Given the description of an element on the screen output the (x, y) to click on. 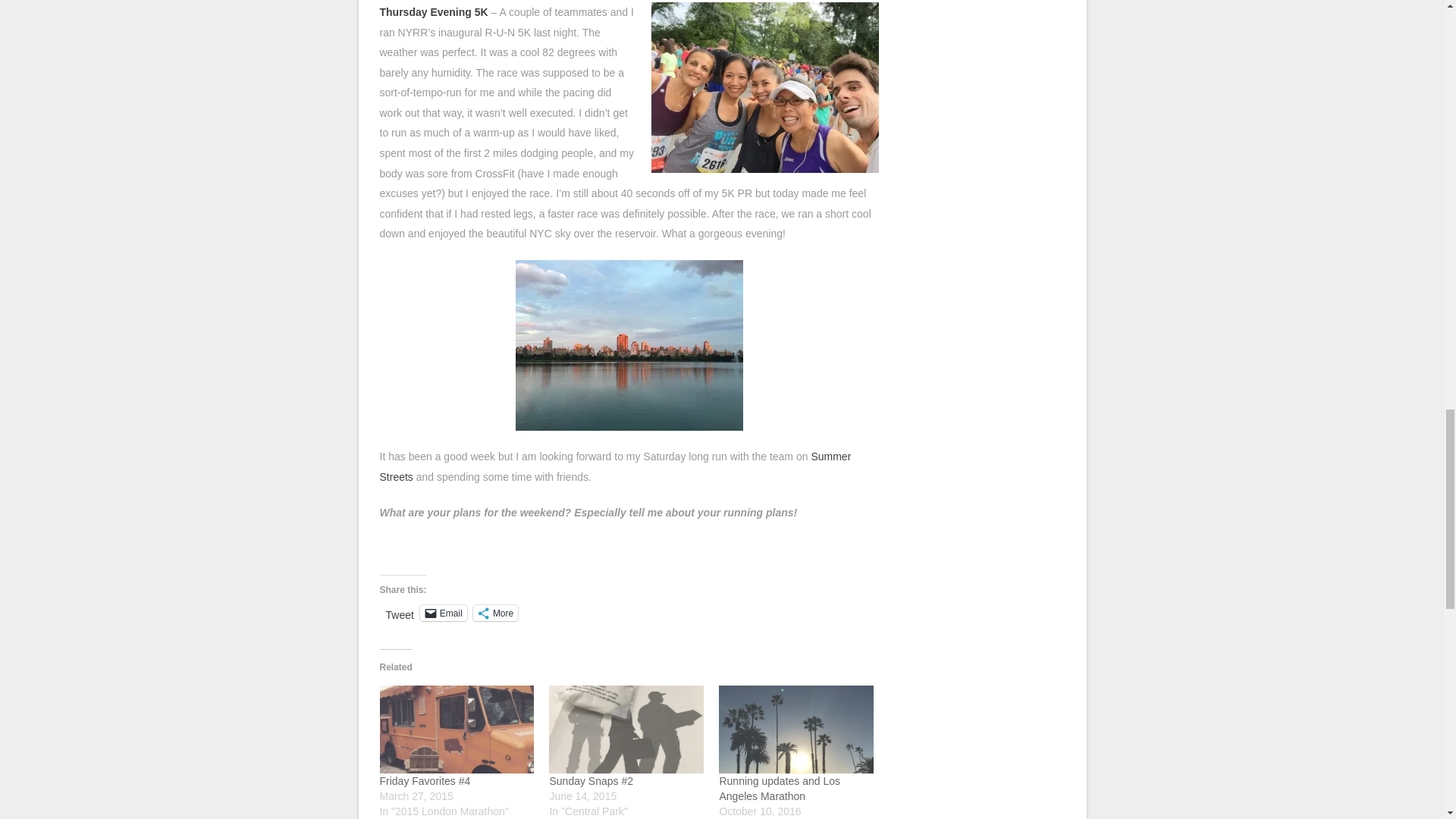
Click to email a link to a friend (443, 612)
Email (443, 612)
Summer Streets (614, 466)
More (495, 612)
Tweet (399, 612)
Thursday Evening 5K (432, 11)
